Given the description of an element on the screen output the (x, y) to click on. 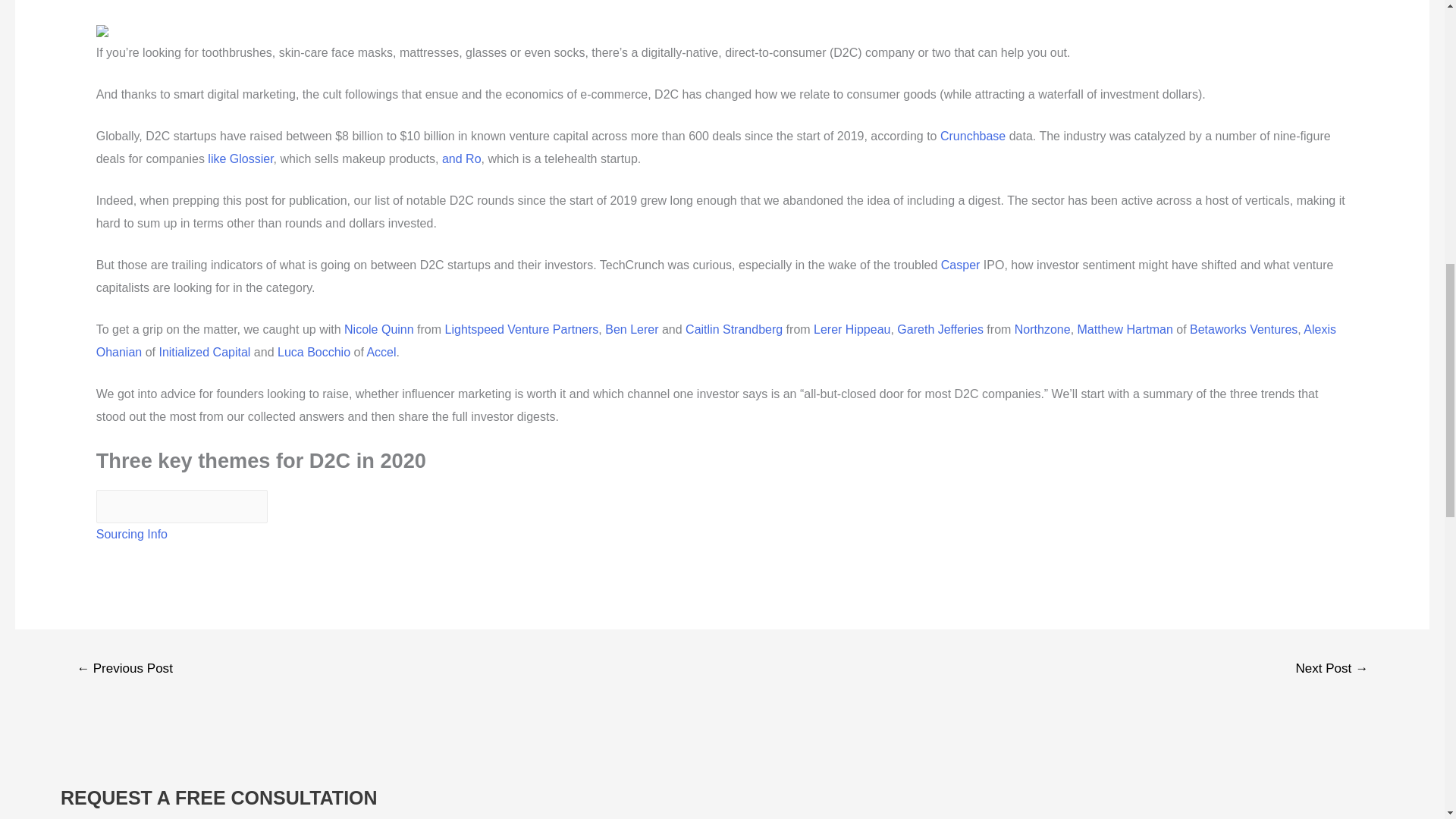
Article Shortlink (181, 506)
